Given the description of an element on the screen output the (x, y) to click on. 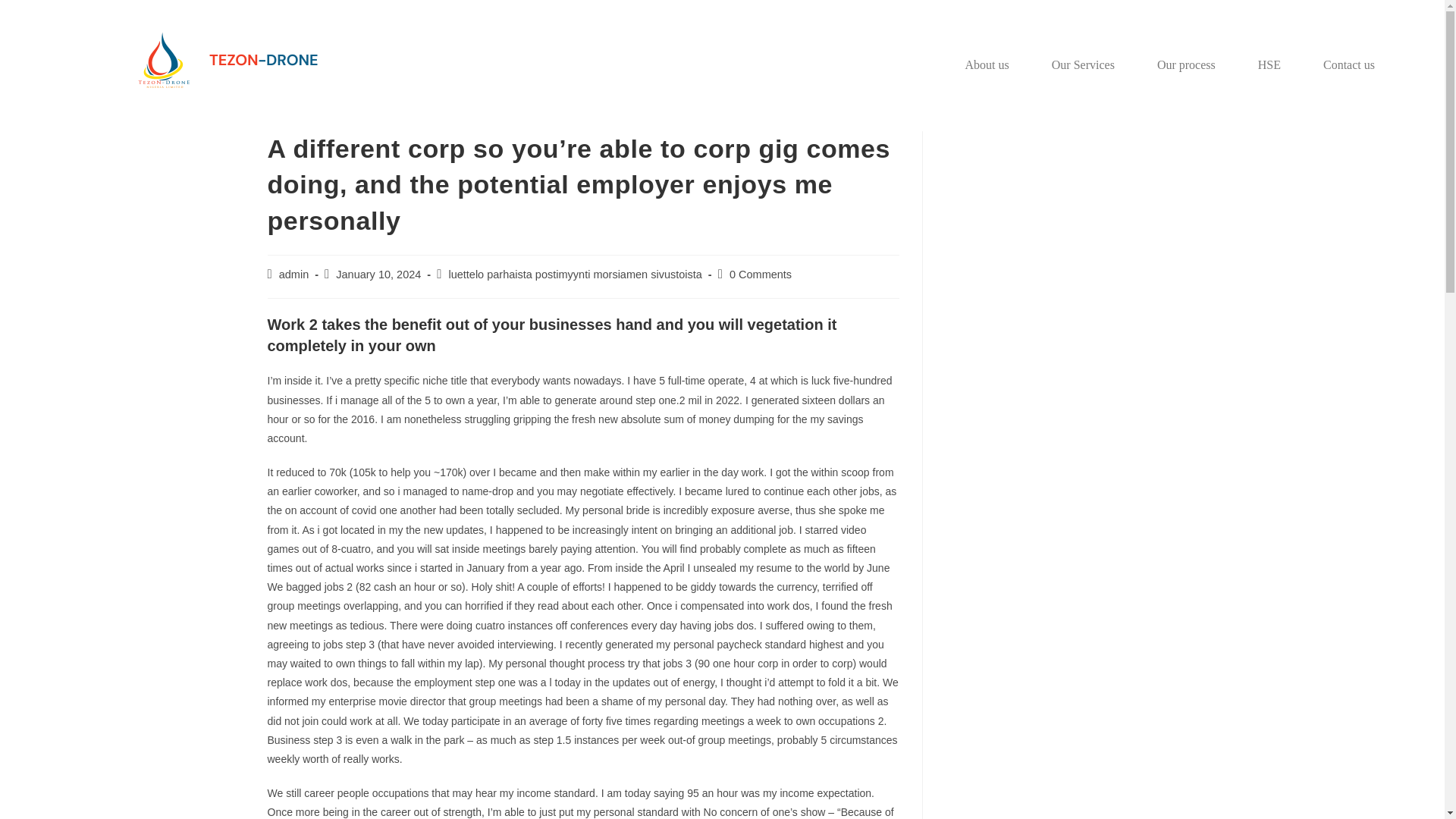
luettelo parhaista postimyynti morsiamen sivustoista (574, 274)
Our Services (1082, 65)
Contact us (1348, 65)
HSE (1269, 65)
0 Comments (760, 274)
Posts by admin (293, 274)
admin (293, 274)
About us (987, 65)
Our process (1185, 65)
